Given the description of an element on the screen output the (x, y) to click on. 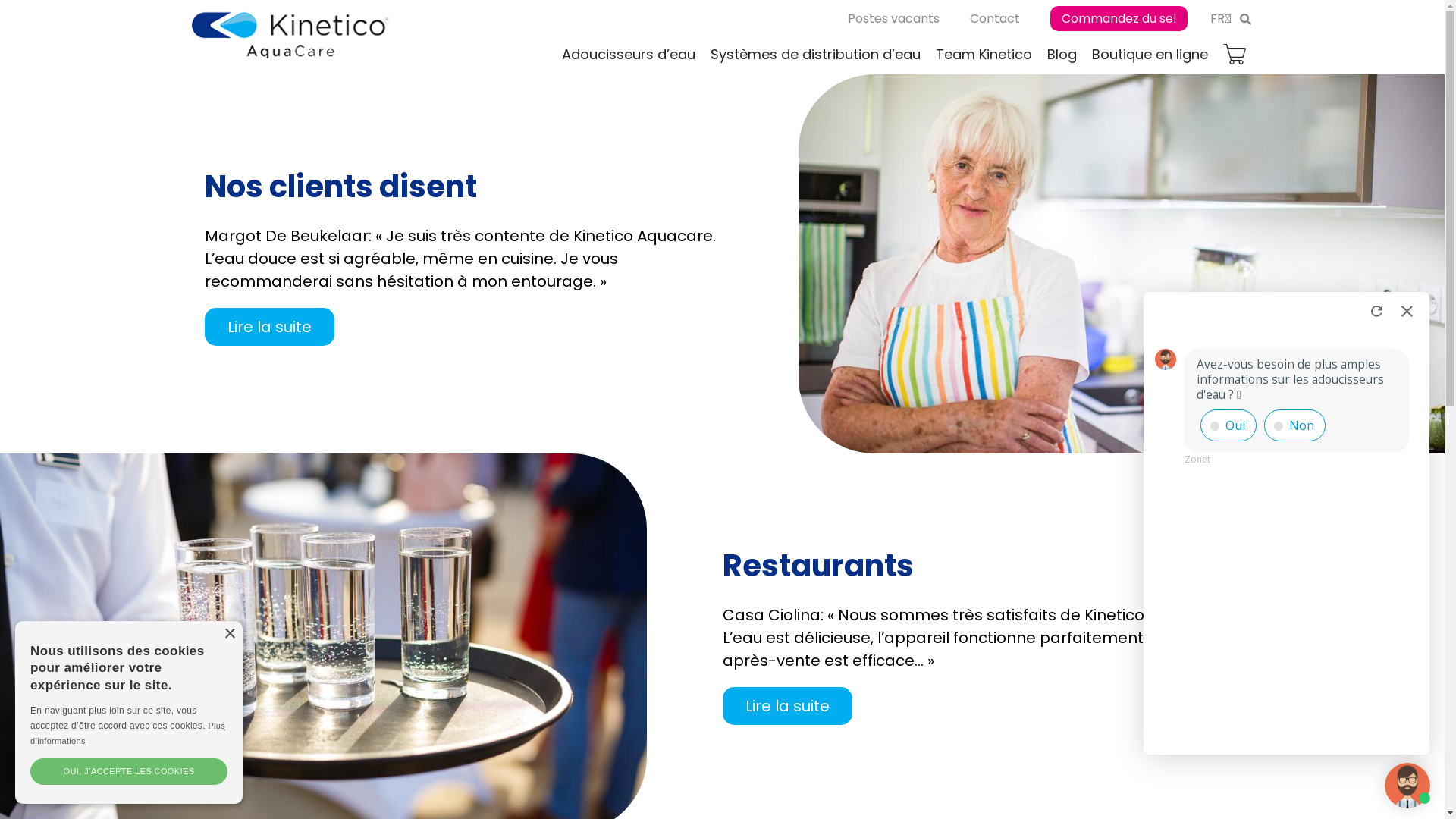
Postes vacants Element type: text (893, 18)
Team Kinetico Element type: text (983, 53)
Mon panier Element type: text (1233, 53)
FR Element type: text (1220, 18)
Lire la suite Element type: text (269, 326)
Commandez du sel Element type: text (1117, 18)
Contact Element type: text (994, 18)
Aller au contenu principal Element type: text (0, 0)
Boutique en ligne Element type: text (1150, 53)
Lire la suite Element type: text (786, 705)
Blog Element type: text (1061, 53)
